Given the description of an element on the screen output the (x, y) to click on. 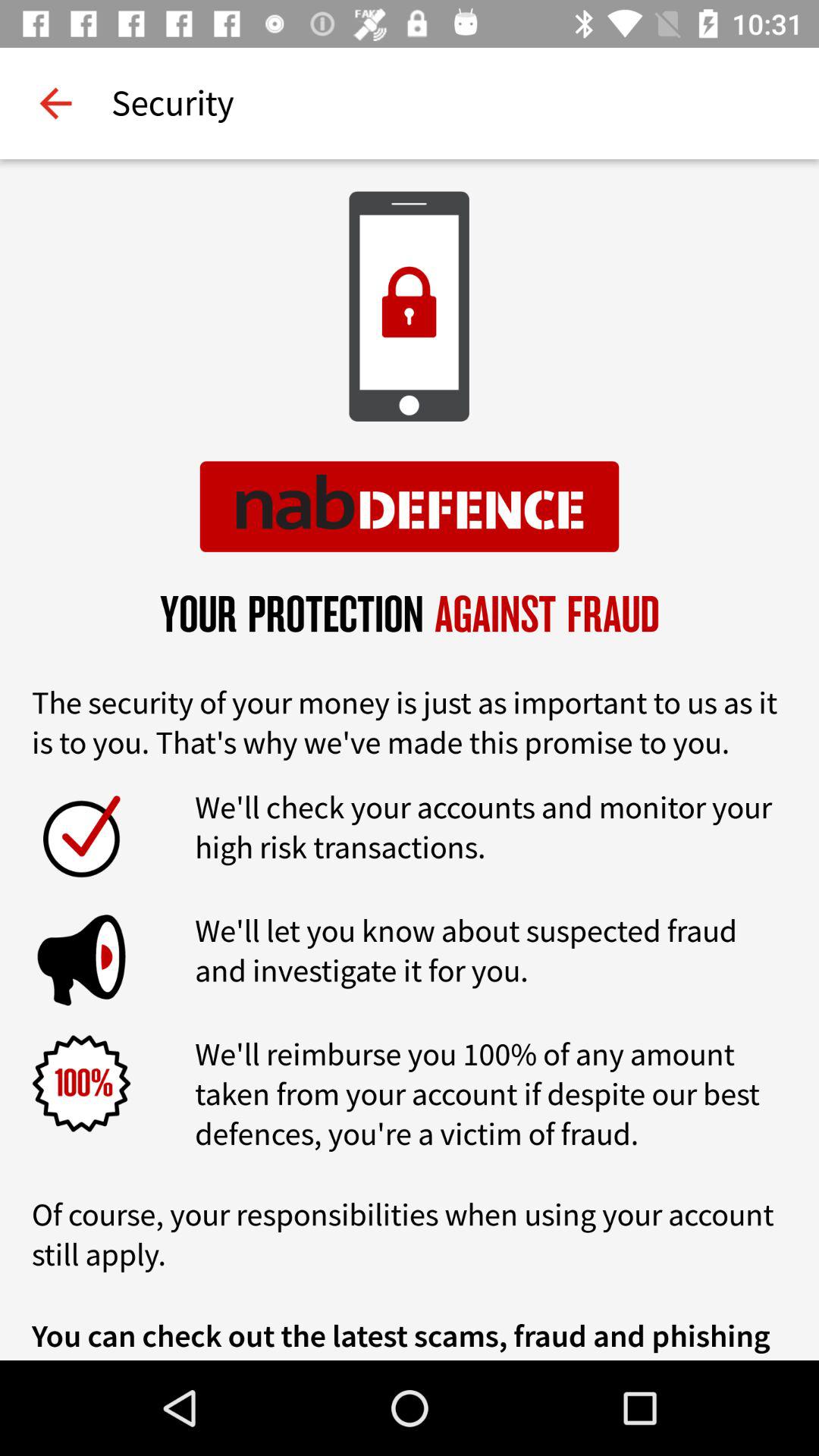
click the icon above the your protection against icon (55, 103)
